Given the description of an element on the screen output the (x, y) to click on. 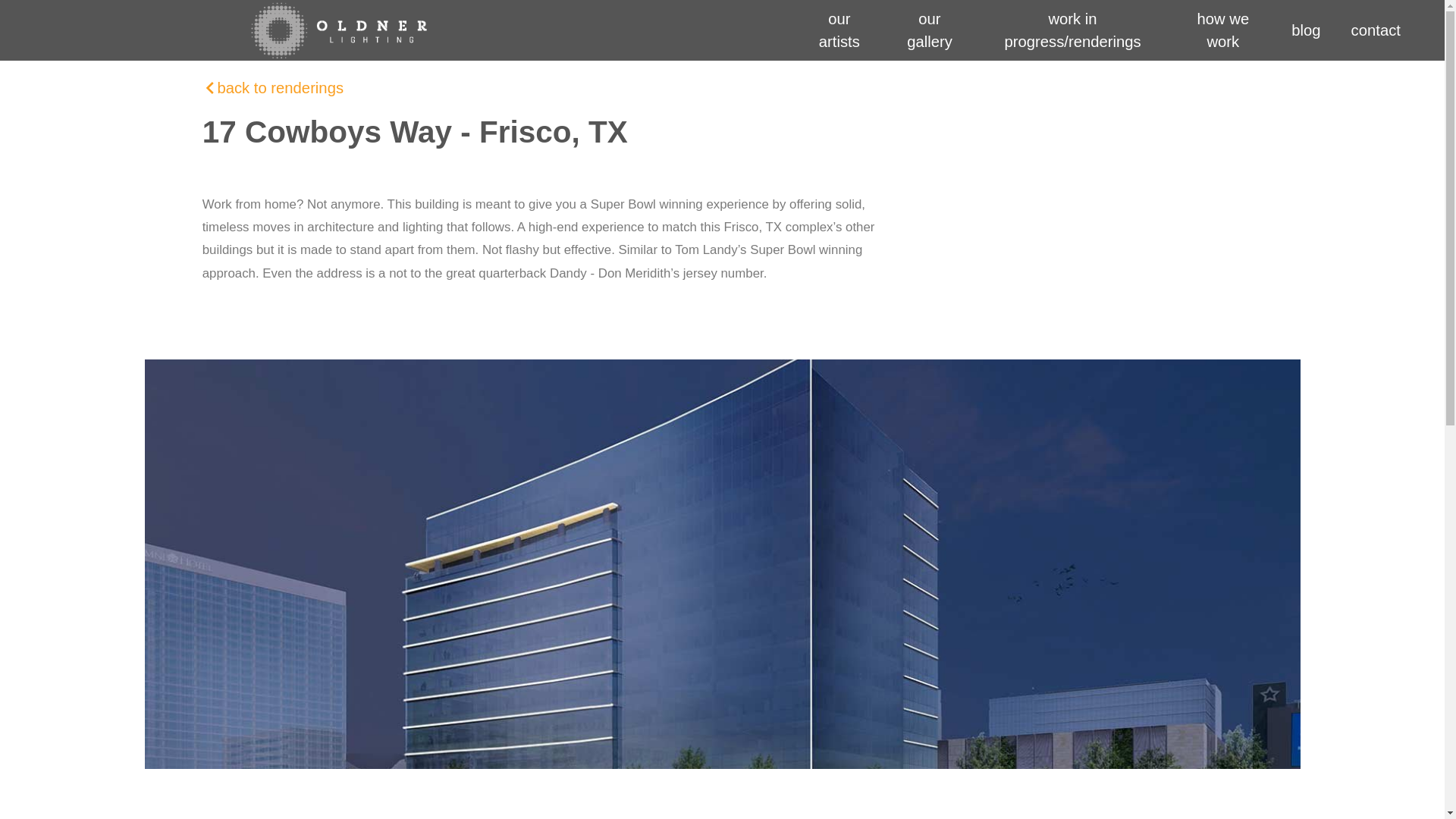
our gallery (929, 30)
back to renderings (279, 87)
blog (1305, 30)
how we work (1222, 30)
our artists (838, 30)
contact (1375, 30)
